Given the description of an element on the screen output the (x, y) to click on. 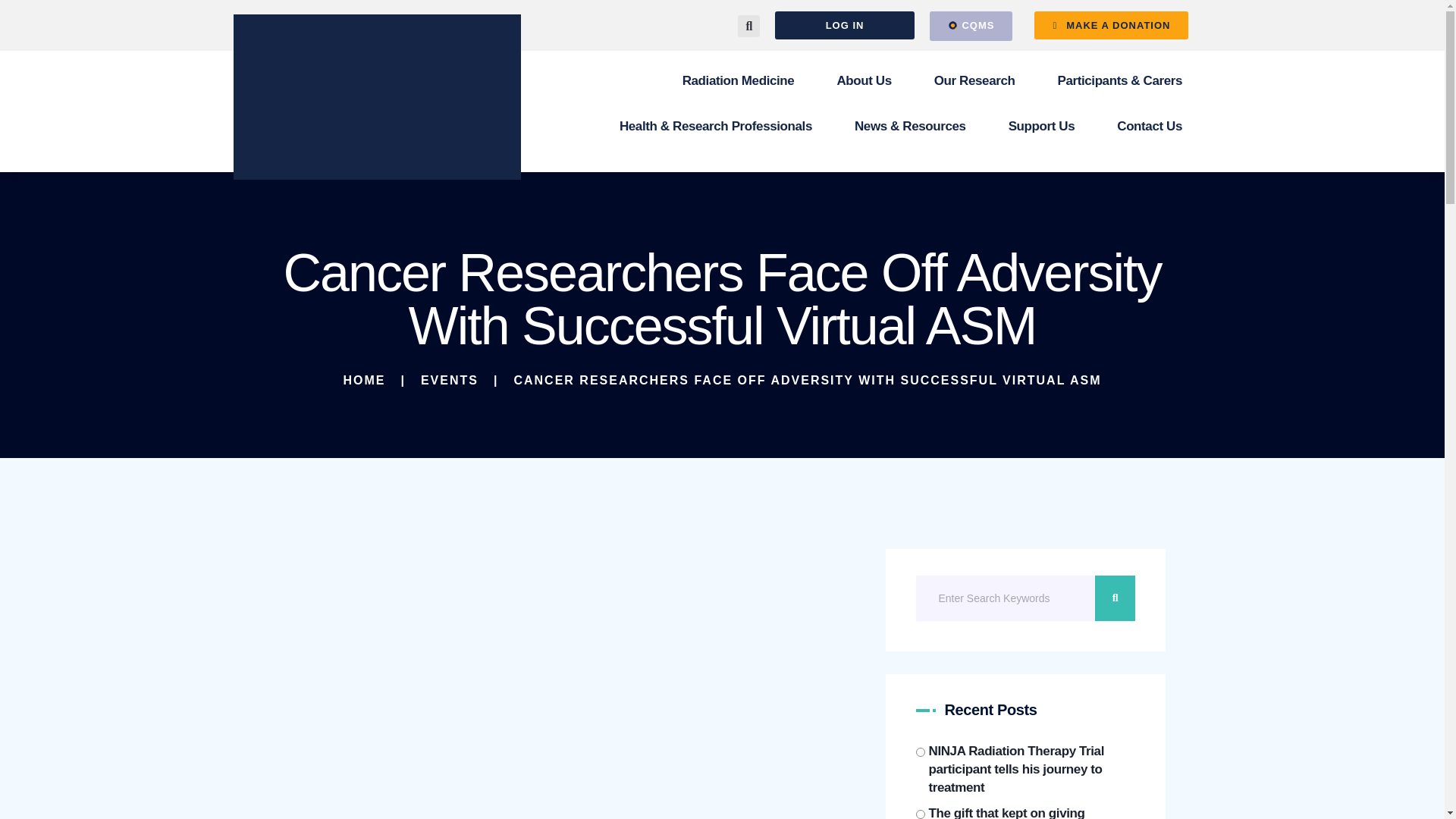
CQMS (970, 25)
About Us (863, 81)
MAKE A DONATION (1110, 25)
LOG IN (844, 25)
Support Us (1041, 126)
Radiation Medicine (738, 81)
Our Research (974, 81)
